Given the description of an element on the screen output the (x, y) to click on. 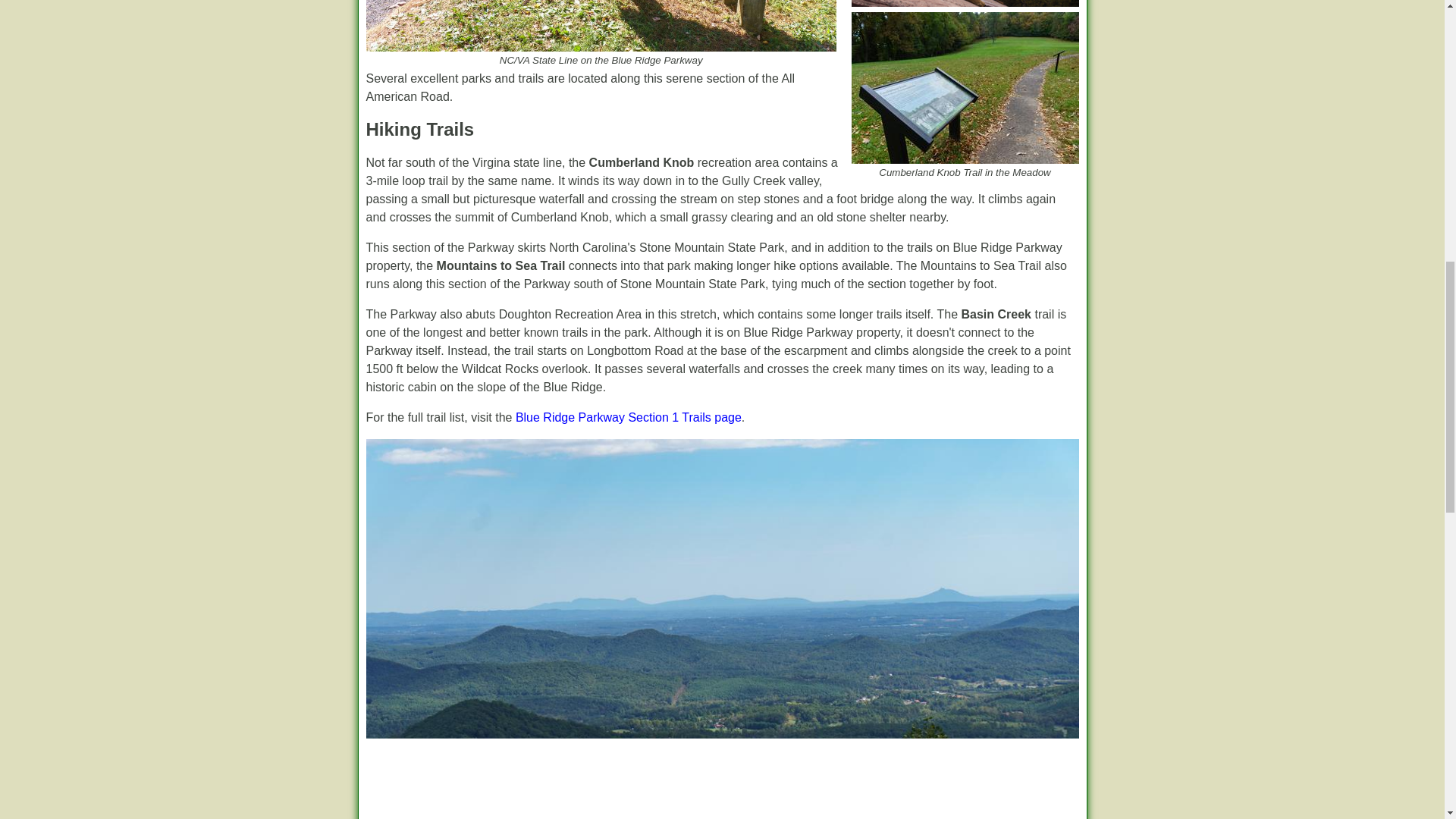
Blue Ridge Parkway Section 1 Trails page (628, 417)
Cumberland Knob Trail in the Meadow (964, 87)
